Given the description of an element on the screen output the (x, y) to click on. 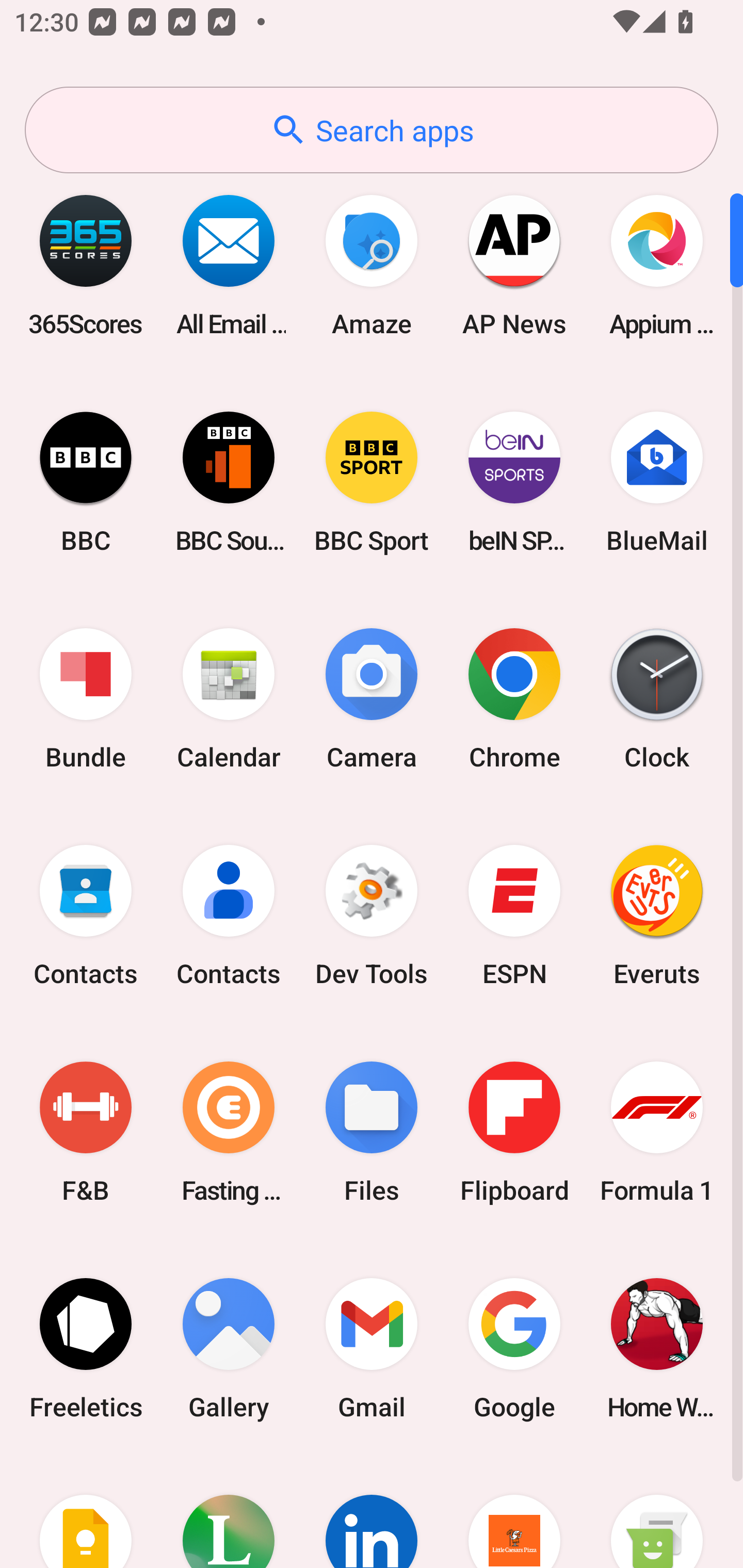
  Search apps (371, 130)
365Scores (85, 264)
All Email Connect (228, 264)
Amaze (371, 264)
AP News (514, 264)
Appium Settings (656, 264)
BBC (85, 482)
BBC Sounds (228, 482)
BBC Sport (371, 482)
beIN SPORTS (514, 482)
BlueMail (656, 482)
Bundle (85, 699)
Calendar (228, 699)
Camera (371, 699)
Chrome (514, 699)
Clock (656, 699)
Contacts (85, 915)
Contacts (228, 915)
Dev Tools (371, 915)
ESPN (514, 915)
Everuts (656, 915)
F&B (85, 1131)
Fasting Coach (228, 1131)
Files (371, 1131)
Flipboard (514, 1131)
Formula 1 (656, 1131)
Freeletics (85, 1348)
Gallery (228, 1348)
Gmail (371, 1348)
Google (514, 1348)
Home Workout (656, 1348)
Keep Notes (85, 1512)
Lifesum (228, 1512)
LinkedIn (371, 1512)
Little Caesars Pizza (514, 1512)
Messaging (656, 1512)
